Given the description of an element on the screen output the (x, y) to click on. 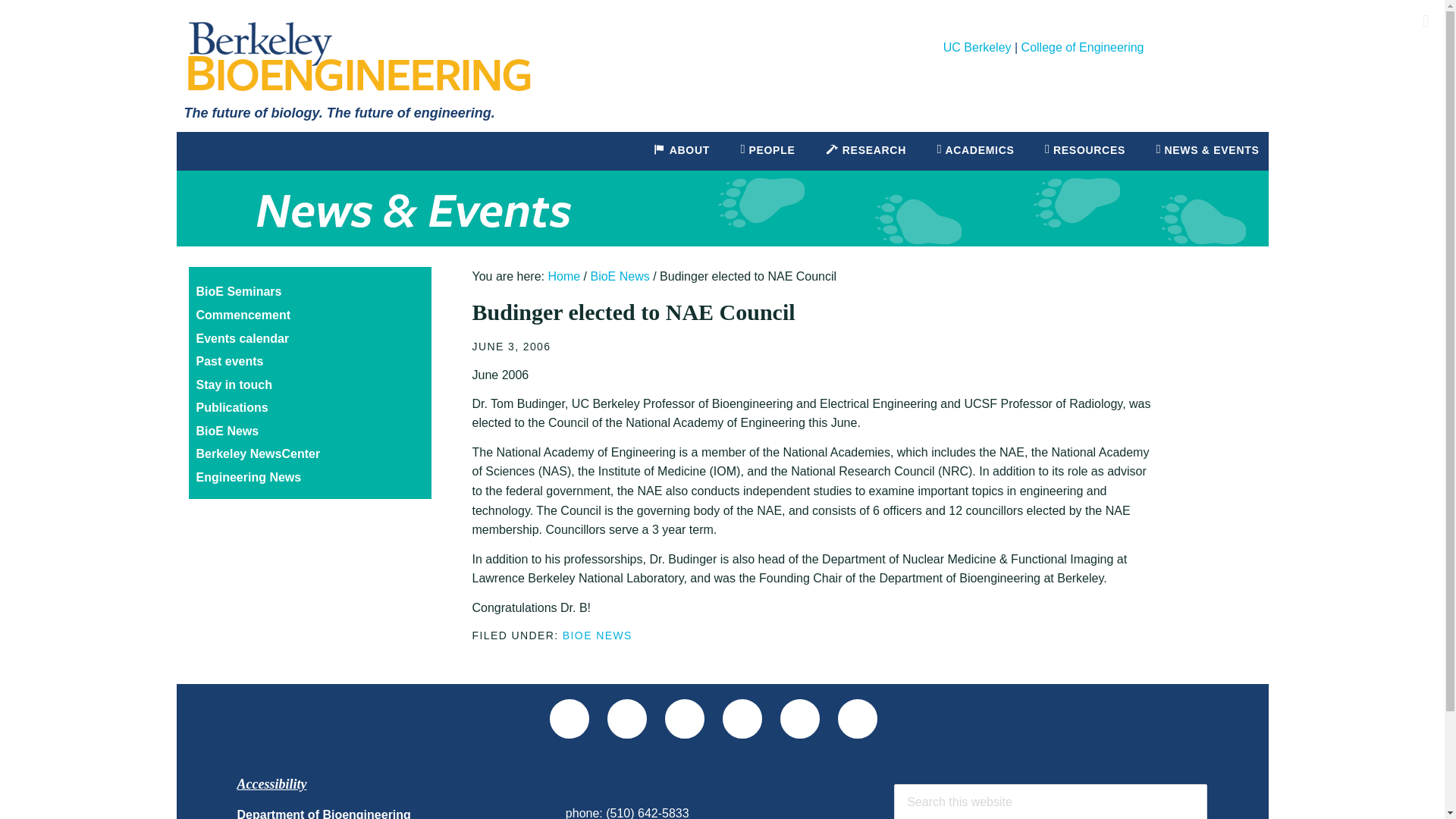
College of Engineering (1083, 47)
UC Berkeley (977, 47)
PEOPLE (766, 150)
RESEARCH (865, 150)
UC Berkeley Department of Bioengineering (357, 56)
ABOUT (681, 150)
ACADEMICS (974, 150)
